Given the description of an element on the screen output the (x, y) to click on. 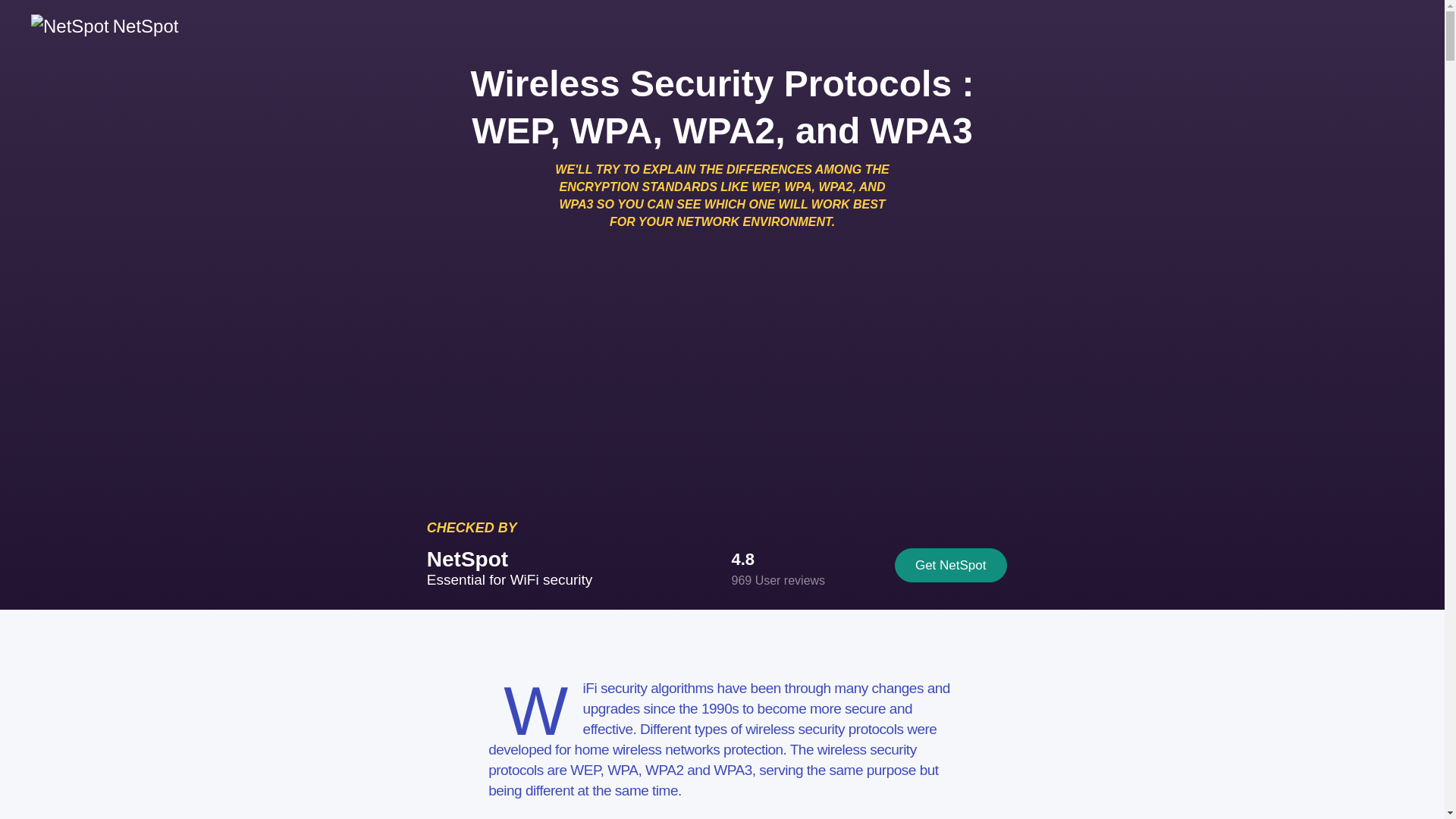
NetSpot (103, 25)
facebook (703, 269)
Get NetSpot (951, 564)
twitter (735, 269)
